Given the description of an element on the screen output the (x, y) to click on. 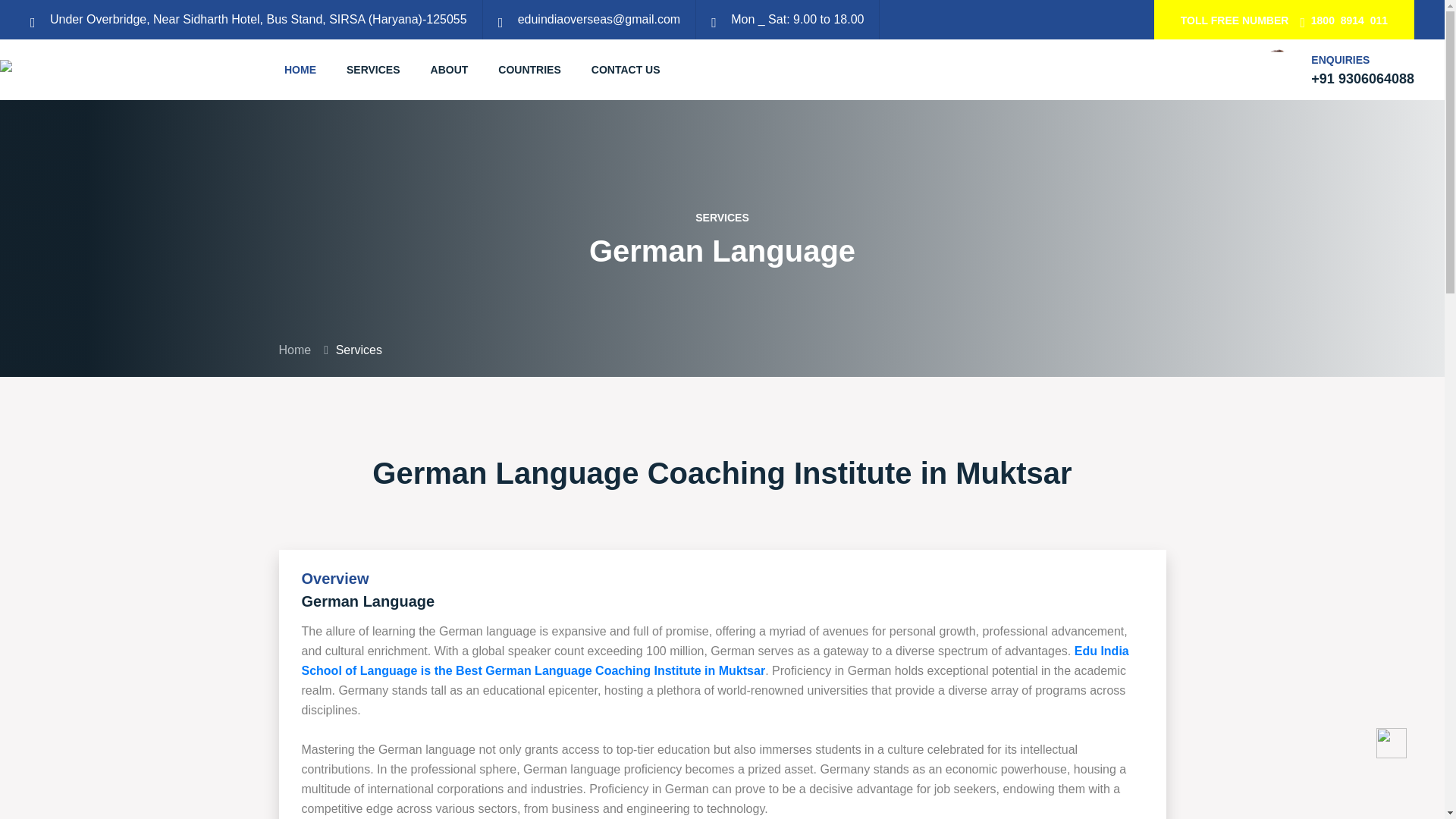
Home (295, 349)
COUNTRIES (528, 69)
CONTACT US (626, 69)
TOLL FREE NUMBER  1800  8914  011 (1283, 19)
